Given the description of an element on the screen output the (x, y) to click on. 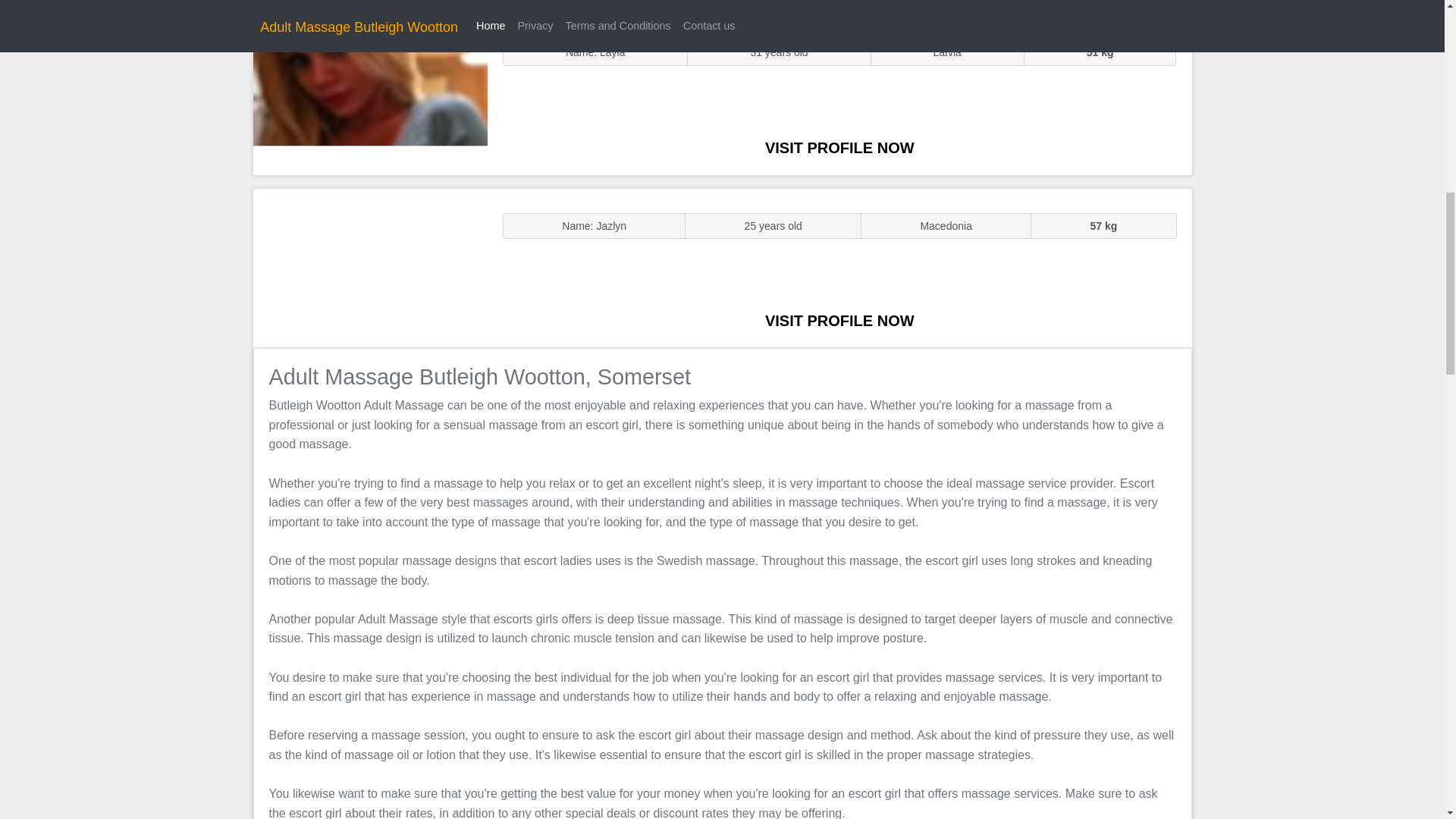
Massage (370, 267)
Sluts (370, 94)
VISIT PROFILE NOW (839, 320)
VISIT PROFILE NOW (839, 147)
